Given the description of an element on the screen output the (x, y) to click on. 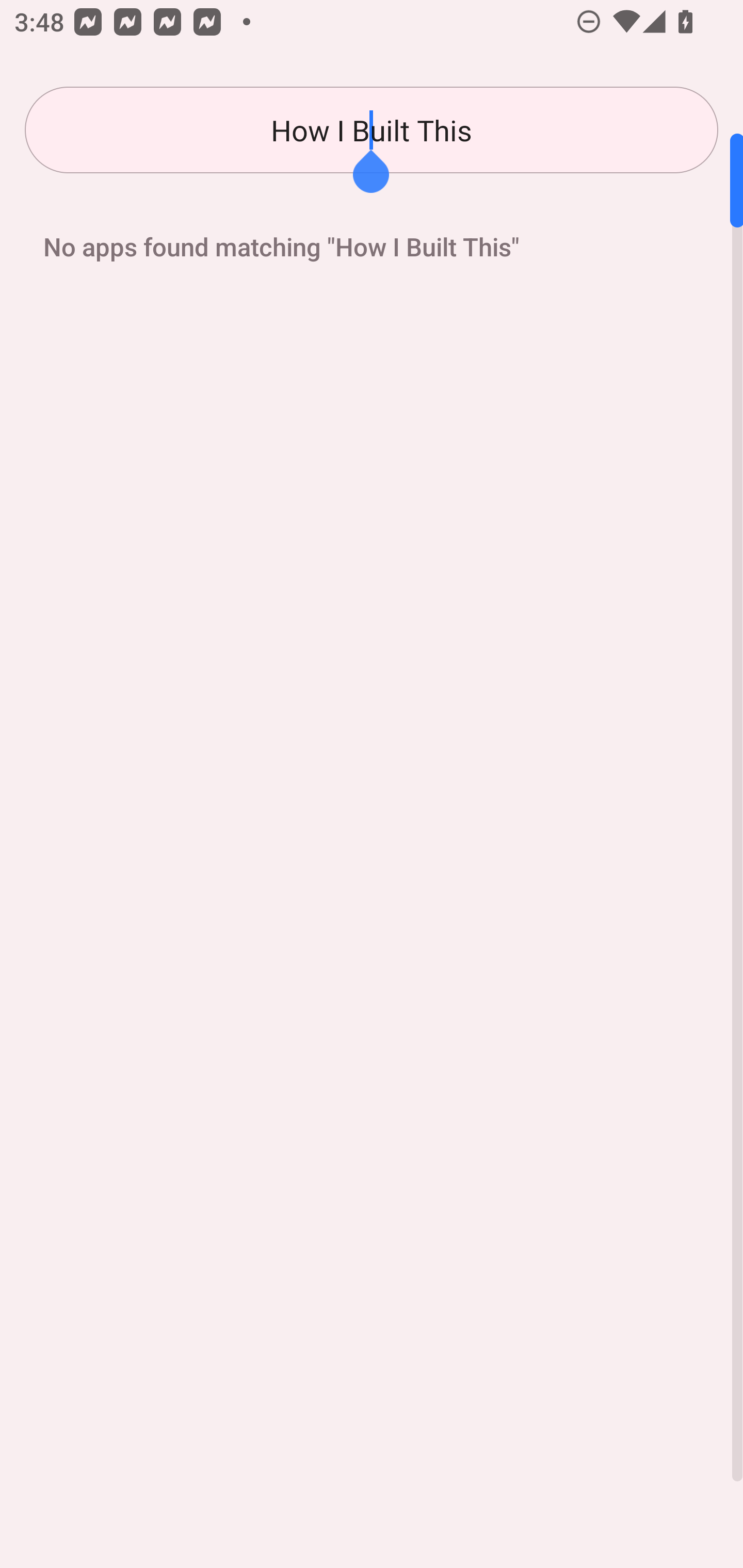
How I Built This (371, 130)
